Given the description of an element on the screen output the (x, y) to click on. 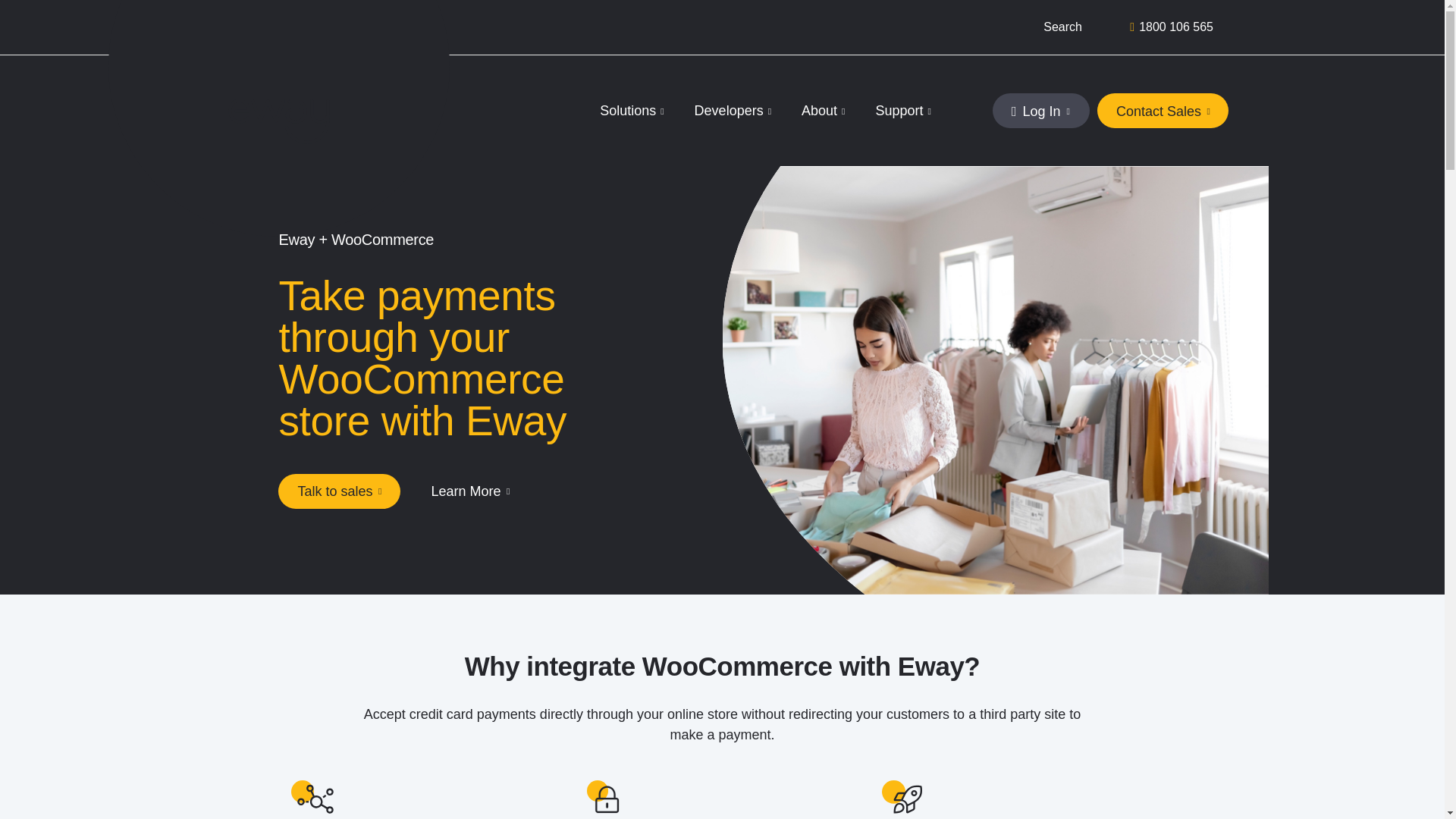
Developers (733, 110)
1800 106 565 (1175, 27)
Learn More (468, 491)
Talk to sales (338, 491)
Talk to sales (338, 491)
About (823, 110)
Solutions (632, 110)
Search (1038, 27)
Learn More (468, 491)
